Given the description of an element on the screen output the (x, y) to click on. 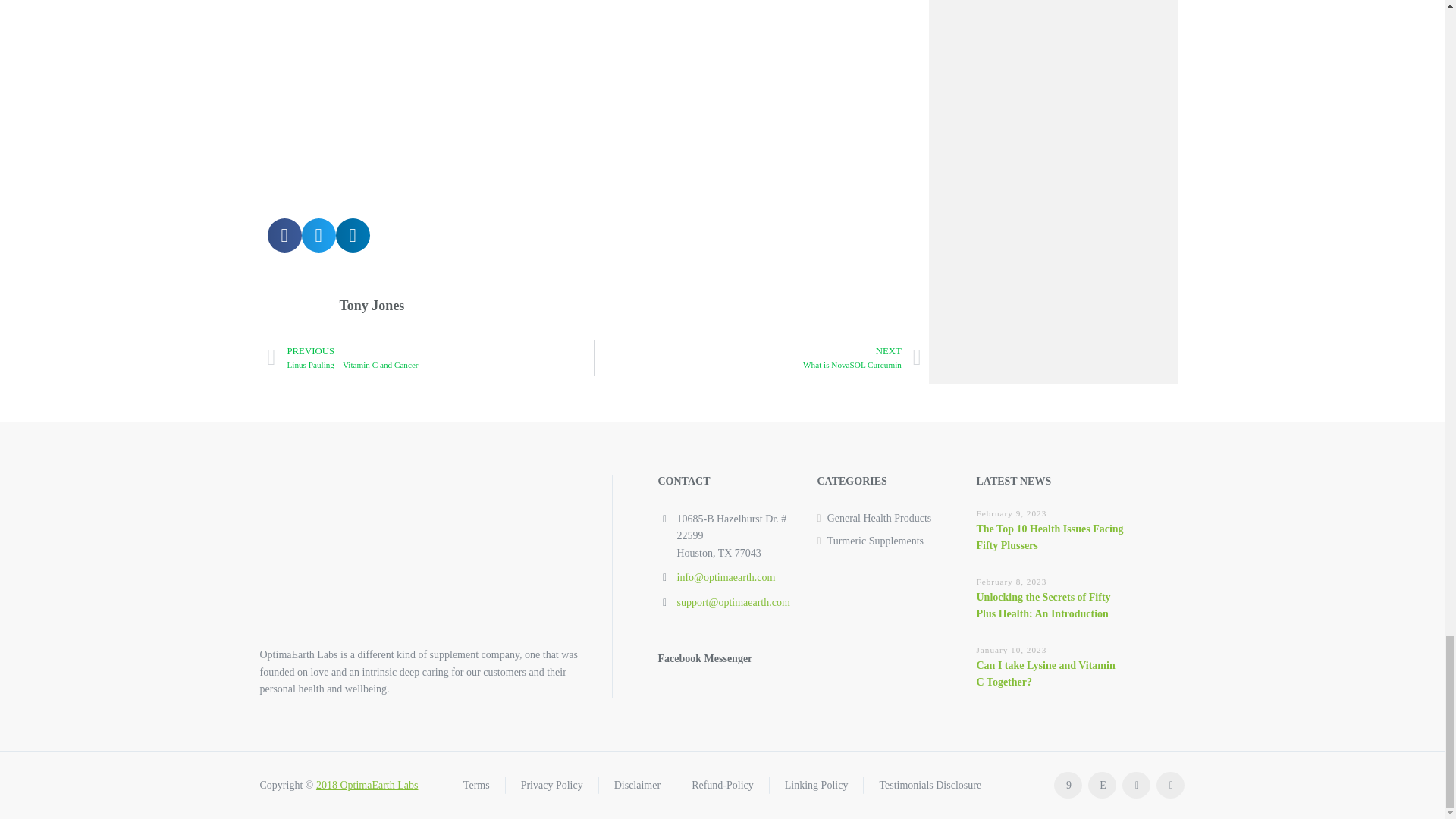
The Unified Theory of Human Cardiovascular Disease 2 (595, 97)
OptimaEarth Labs (367, 785)
The Top 10 Health Issues Facing Fifty Plussers (1050, 537)
Can I take Lysine and Vitamin C Together? (1045, 673)
Unlocking the Secrets of Fifty Plus Health: An Introduction (1043, 605)
Facebook (1067, 785)
